Given the description of an element on the screen output the (x, y) to click on. 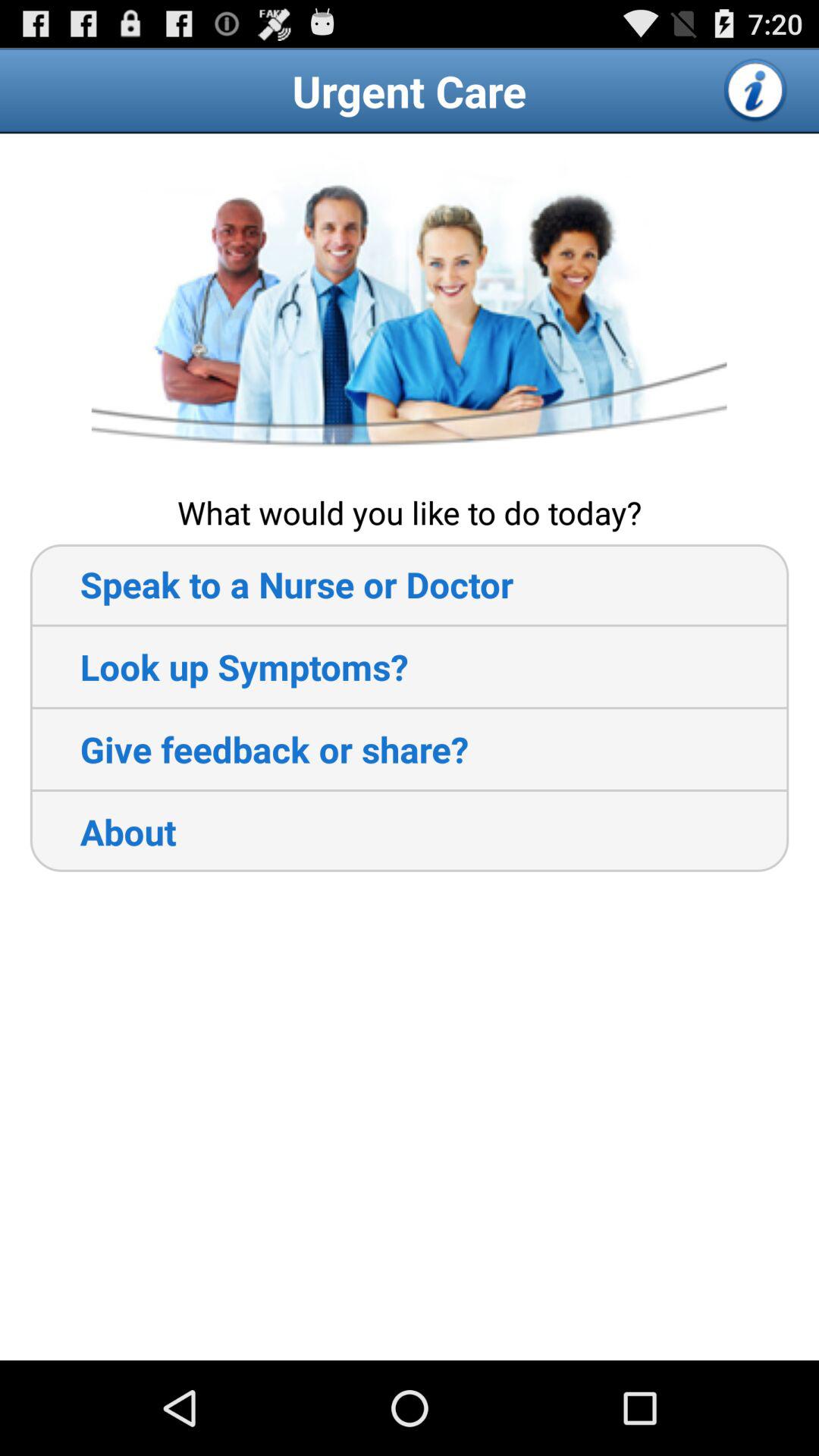
find more information (756, 90)
